Given the description of an element on the screen output the (x, y) to click on. 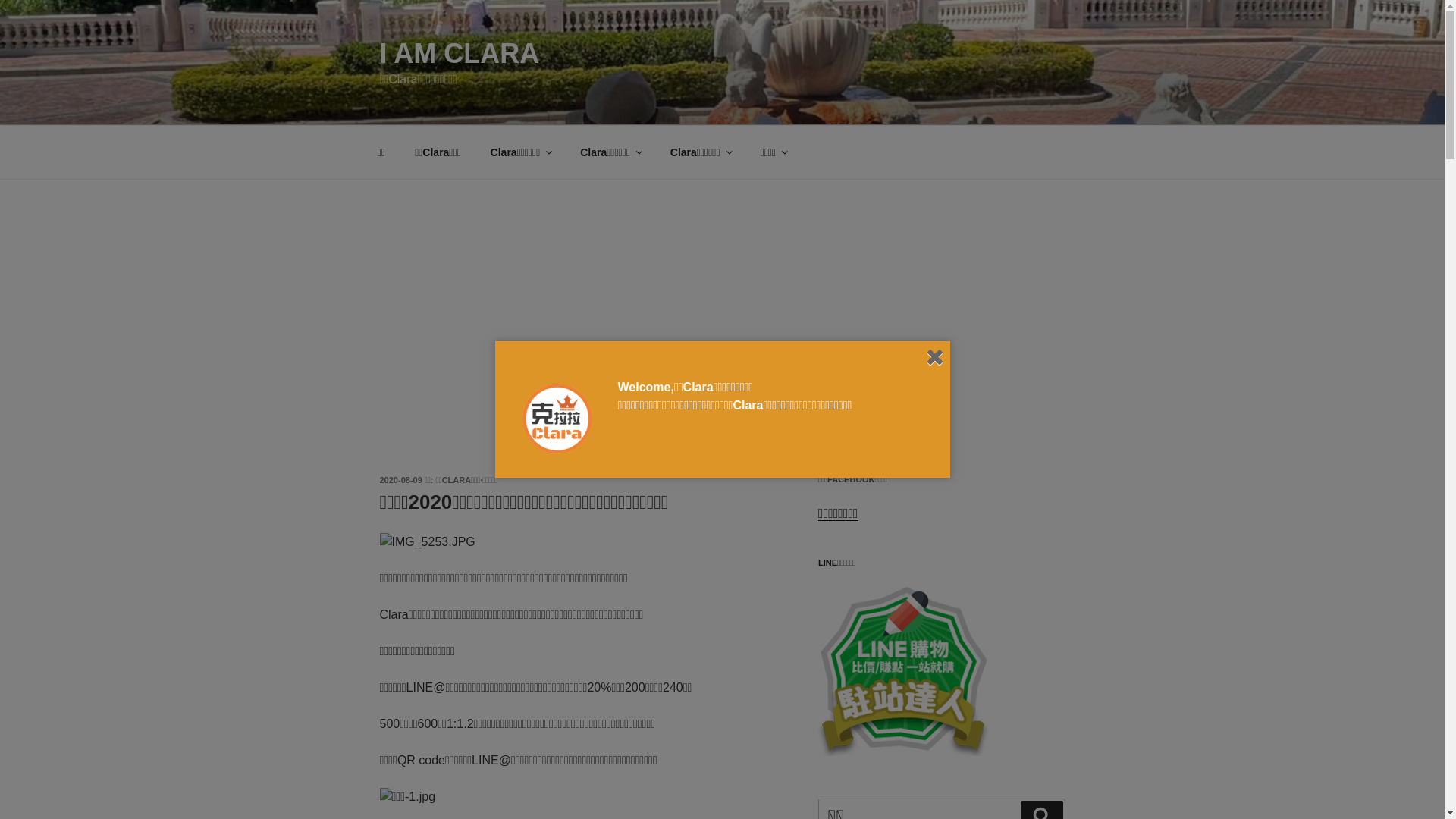
2020-08-09 Element type: text (400, 479)
I AM CLARA Element type: text (459, 53)
Advertisement Element type: hover (721, 293)
